Given the description of an element on the screen output the (x, y) to click on. 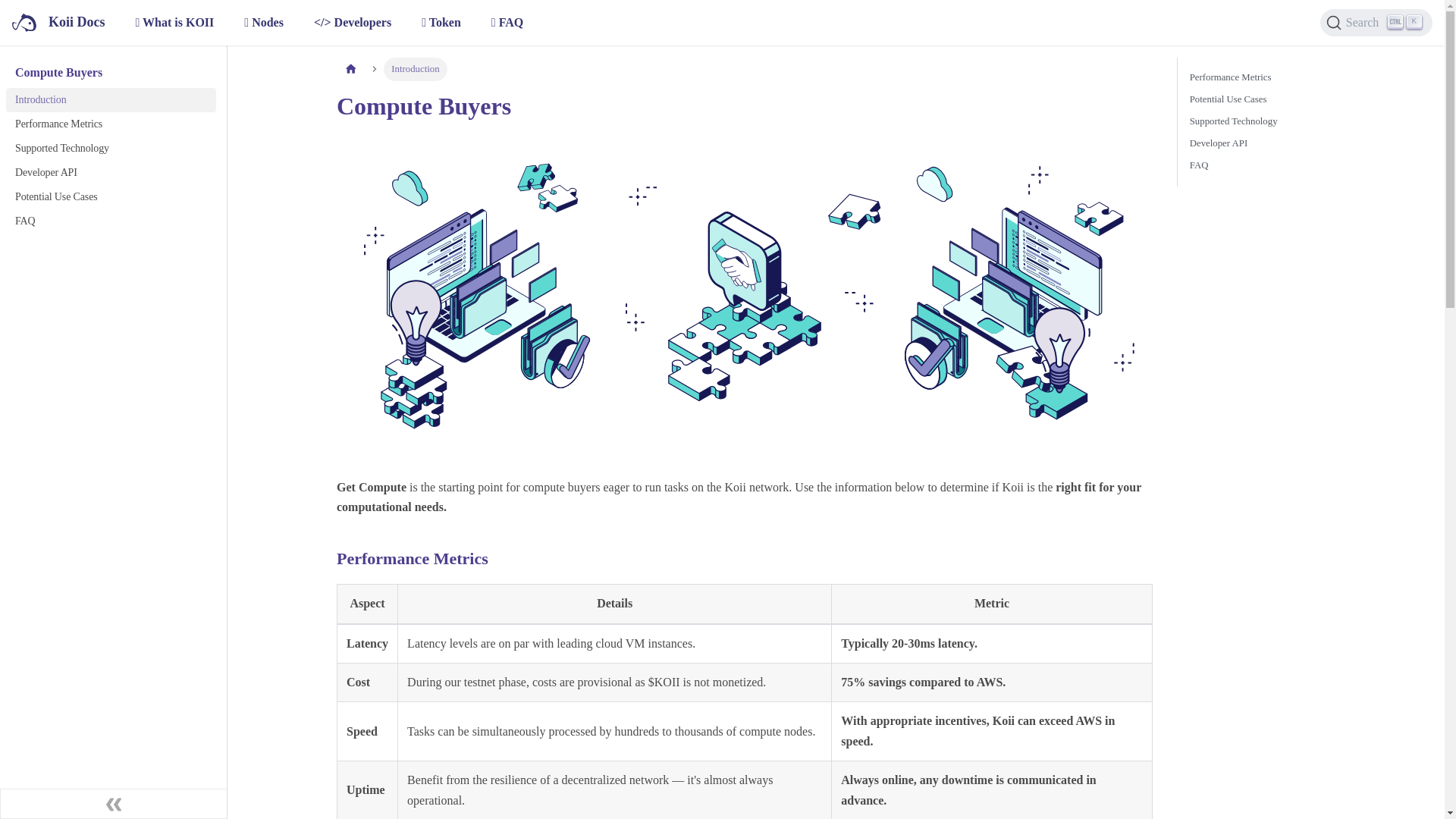
Collapse sidebar (113, 803)
FAQ (110, 221)
Developer API (1307, 143)
Potential Use Cases (110, 197)
Introduction (110, 99)
Supported Technology (1307, 121)
Performance Metrics (1307, 77)
Supported Technology (110, 148)
Koii Docs (57, 22)
FAQ (1376, 22)
Potential Use Cases (1307, 165)
Performance Metrics (1307, 99)
Developer API (110, 124)
